Given the description of an element on the screen output the (x, y) to click on. 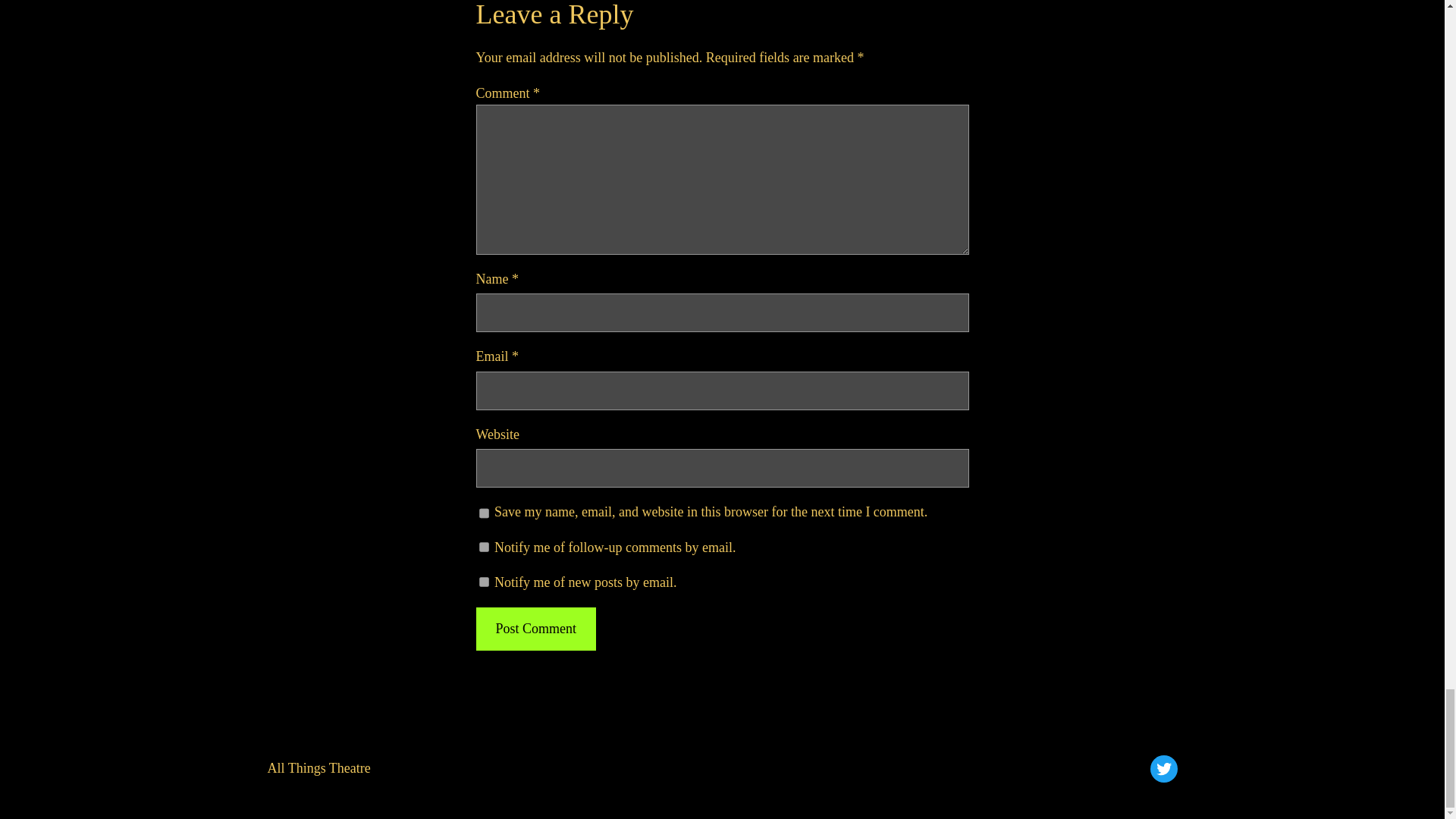
Post Comment (535, 628)
subscribe (484, 582)
All Things Theatre (317, 767)
subscribe (484, 547)
Twitter (1163, 768)
Post Comment (535, 628)
